Given the description of an element on the screen output the (x, y) to click on. 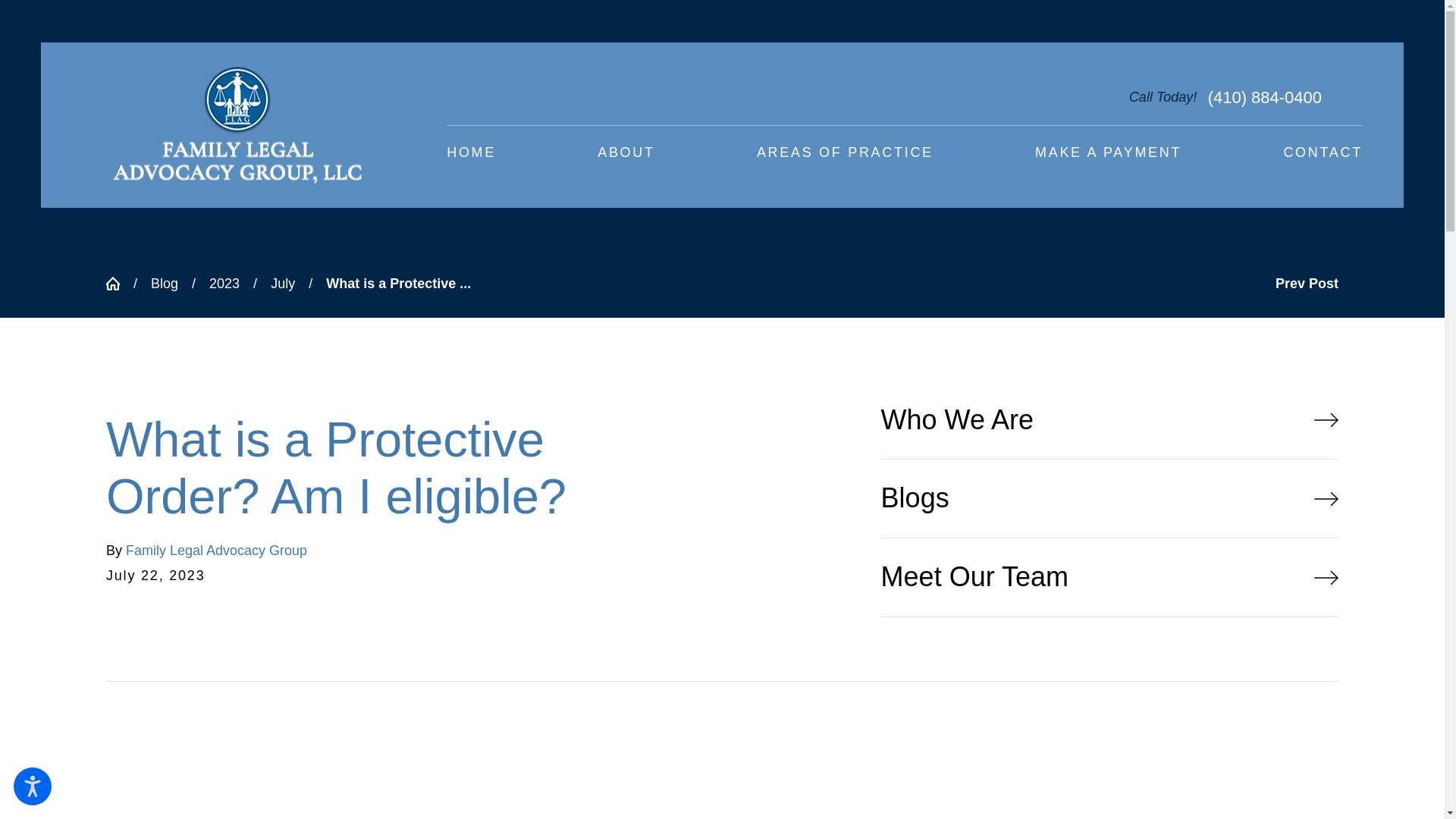
Family Legal Advocacy Group, LLC (237, 125)
Open the accessibility options menu (31, 786)
ABOUT (625, 153)
HOME (471, 153)
Go Home (119, 283)
AREAS OF PRACTICE (845, 153)
